Given the description of an element on the screen output the (x, y) to click on. 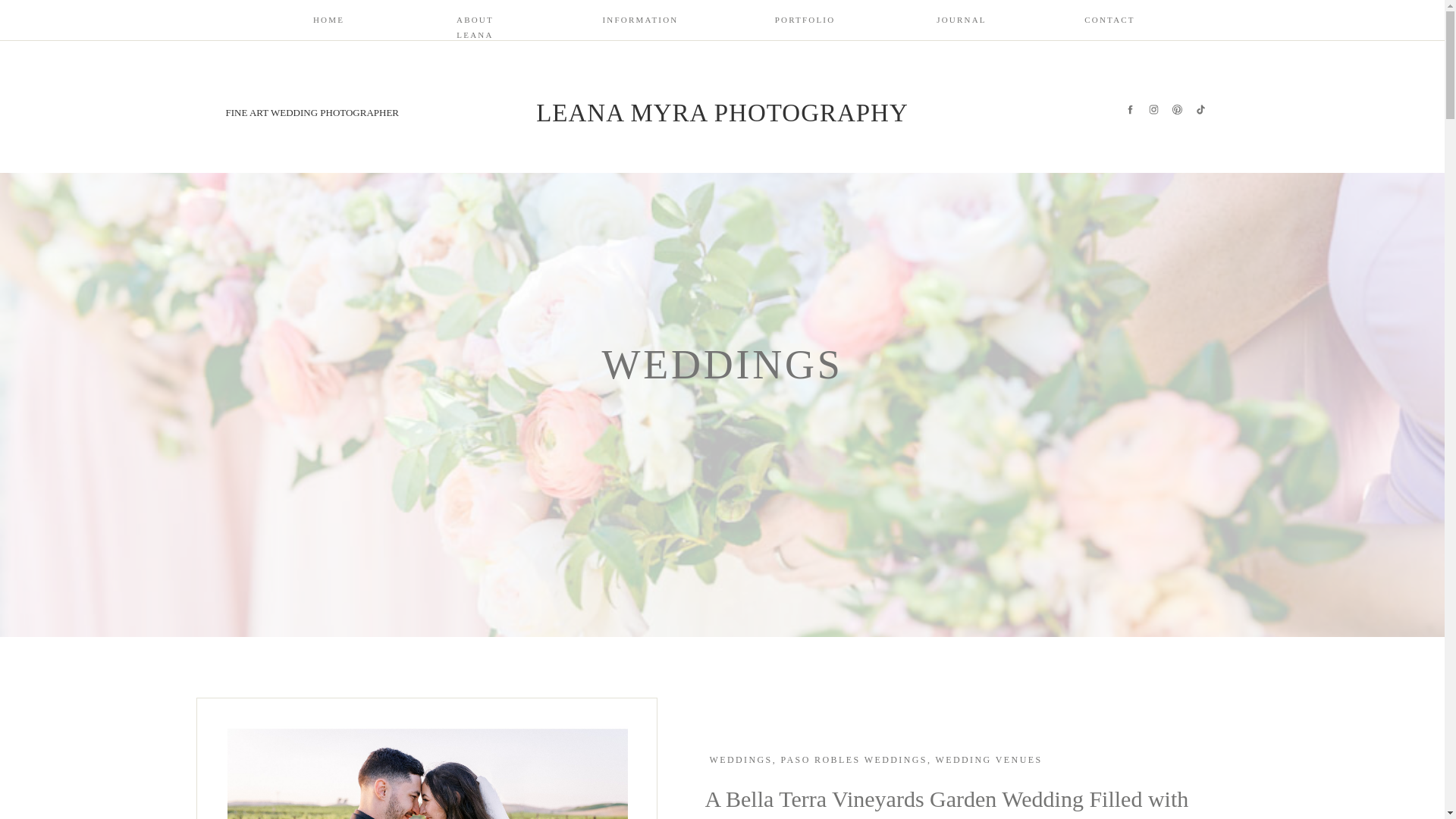
PASO ROBLES WEDDINGS (853, 759)
WEDDINGS (741, 759)
ABOUT LEANA (475, 22)
WEDDING VENUES (988, 759)
CONTACT (1109, 22)
INFORMATION (638, 22)
JOURNAL (961, 22)
HOME (328, 22)
PORTFOLIO (804, 22)
